Given the description of an element on the screen output the (x, y) to click on. 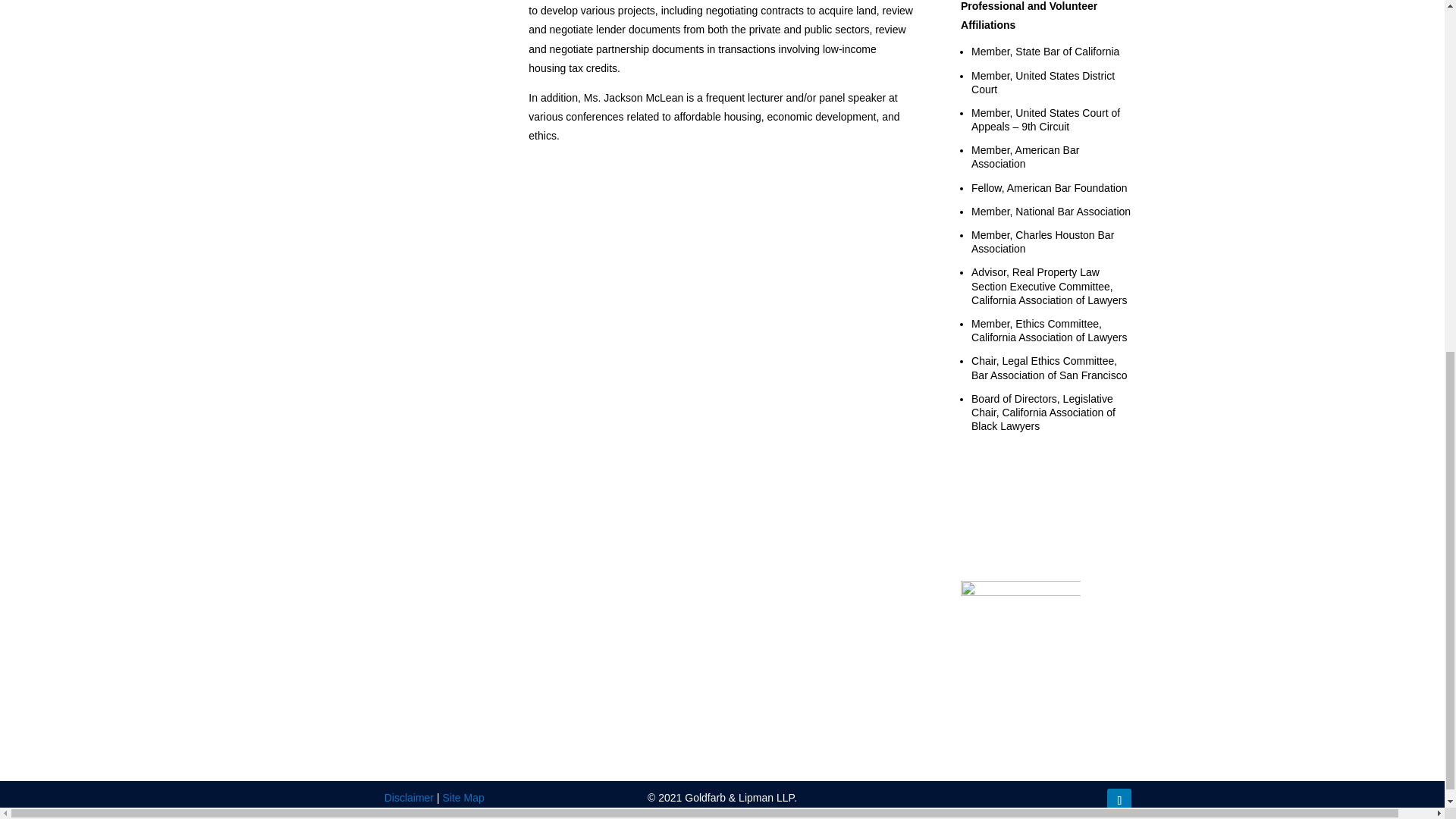
Follow on LinkedIn (1118, 800)
